Given the description of an element on the screen output the (x, y) to click on. 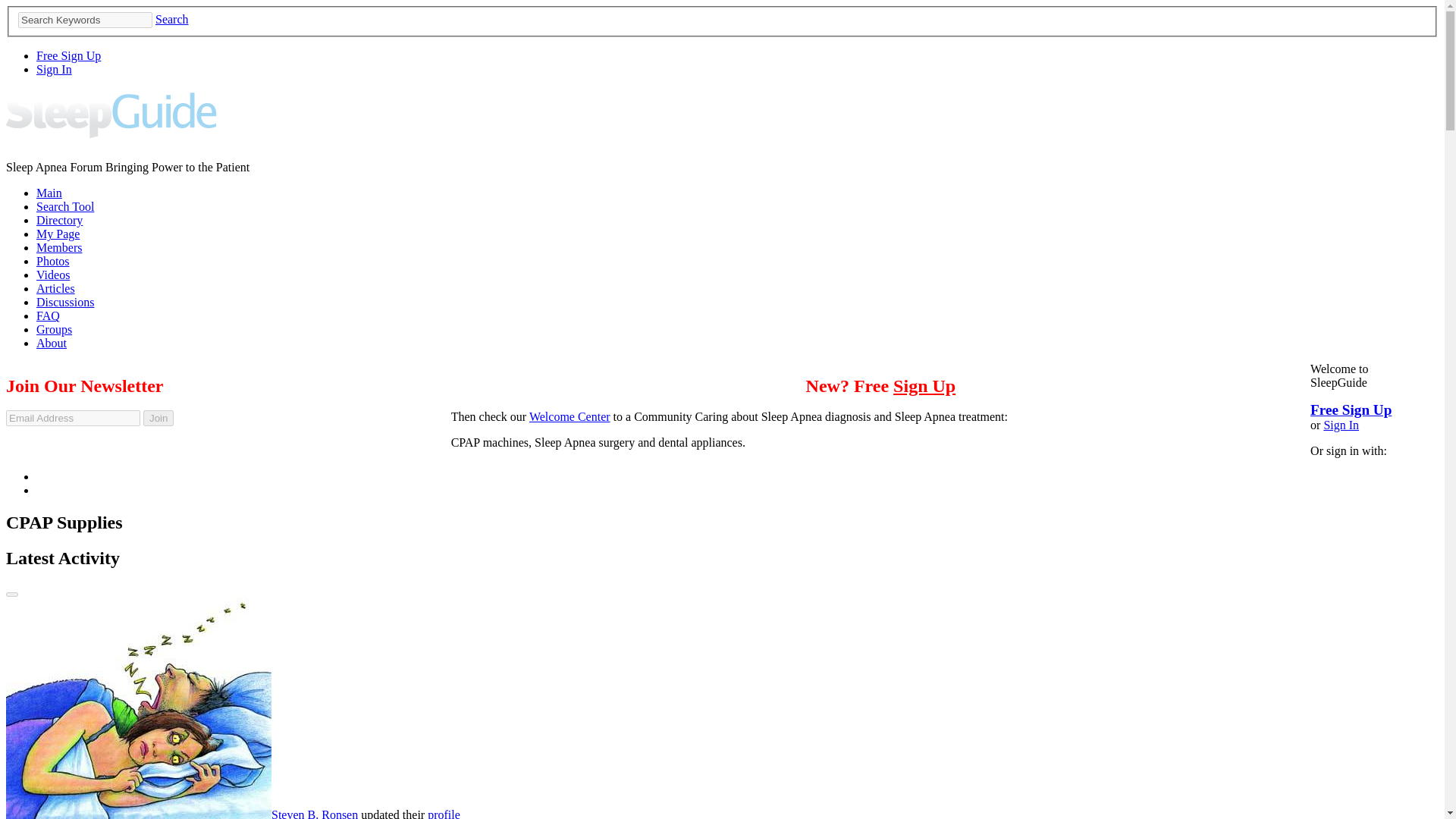
Sign In (1340, 424)
Free Sign Up (1350, 409)
Photos (52, 260)
FAQ (47, 315)
Videos (52, 274)
My Page (58, 233)
Email Address (72, 417)
Groups (53, 328)
Join (157, 417)
Main (49, 192)
Search Keywords (84, 19)
Sign Up (924, 385)
Discussions (65, 301)
Welcome Center (569, 416)
profile (444, 813)
